Given the description of an element on the screen output the (x, y) to click on. 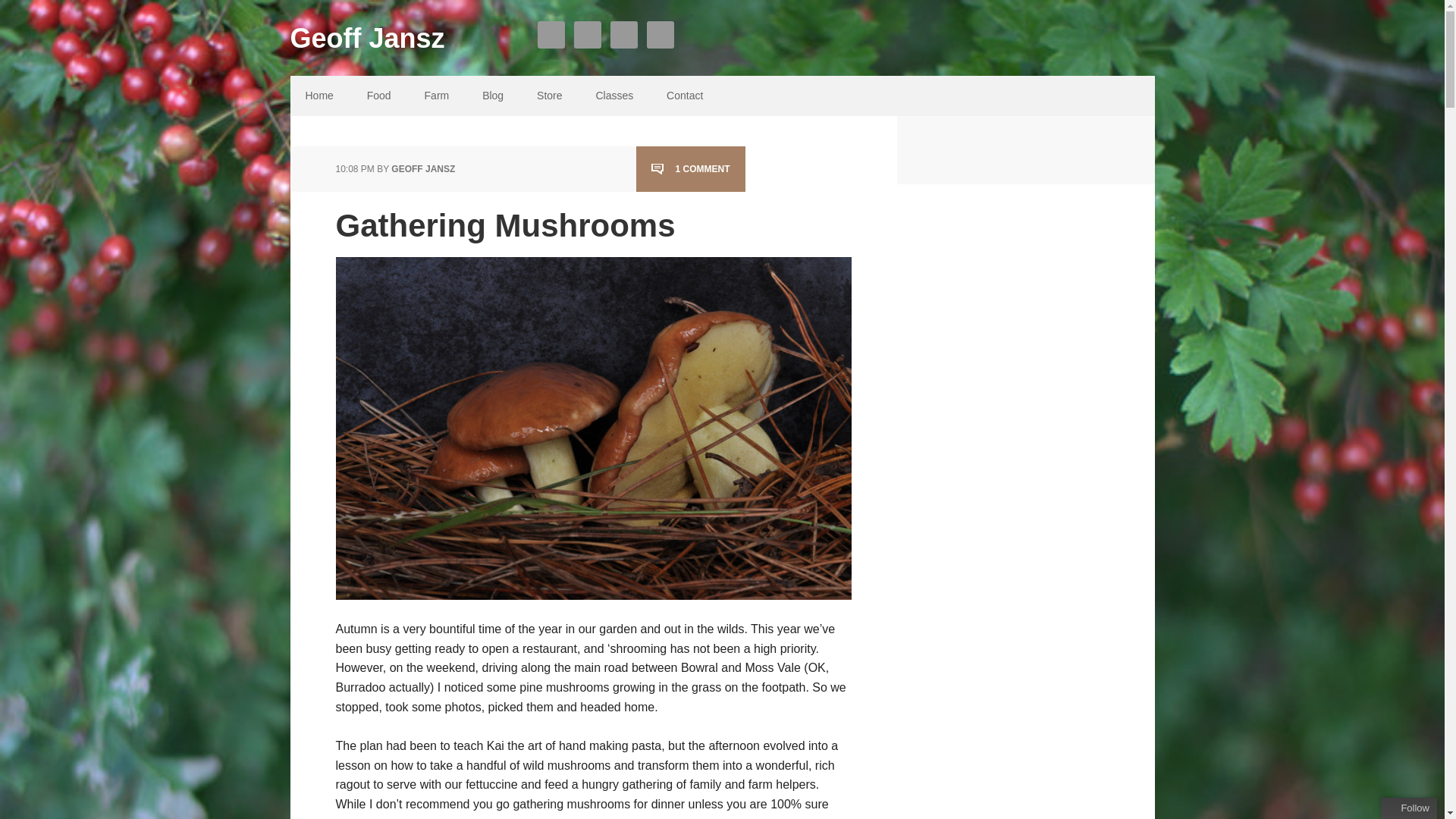
Store (548, 96)
Contact (683, 96)
Blog (492, 96)
Home (318, 96)
Classes (613, 96)
Farm (436, 96)
Food (379, 96)
GEOFF JANSZ (422, 168)
Geoff Jansz (410, 27)
1 COMMENT (689, 168)
